Given the description of an element on the screen output the (x, y) to click on. 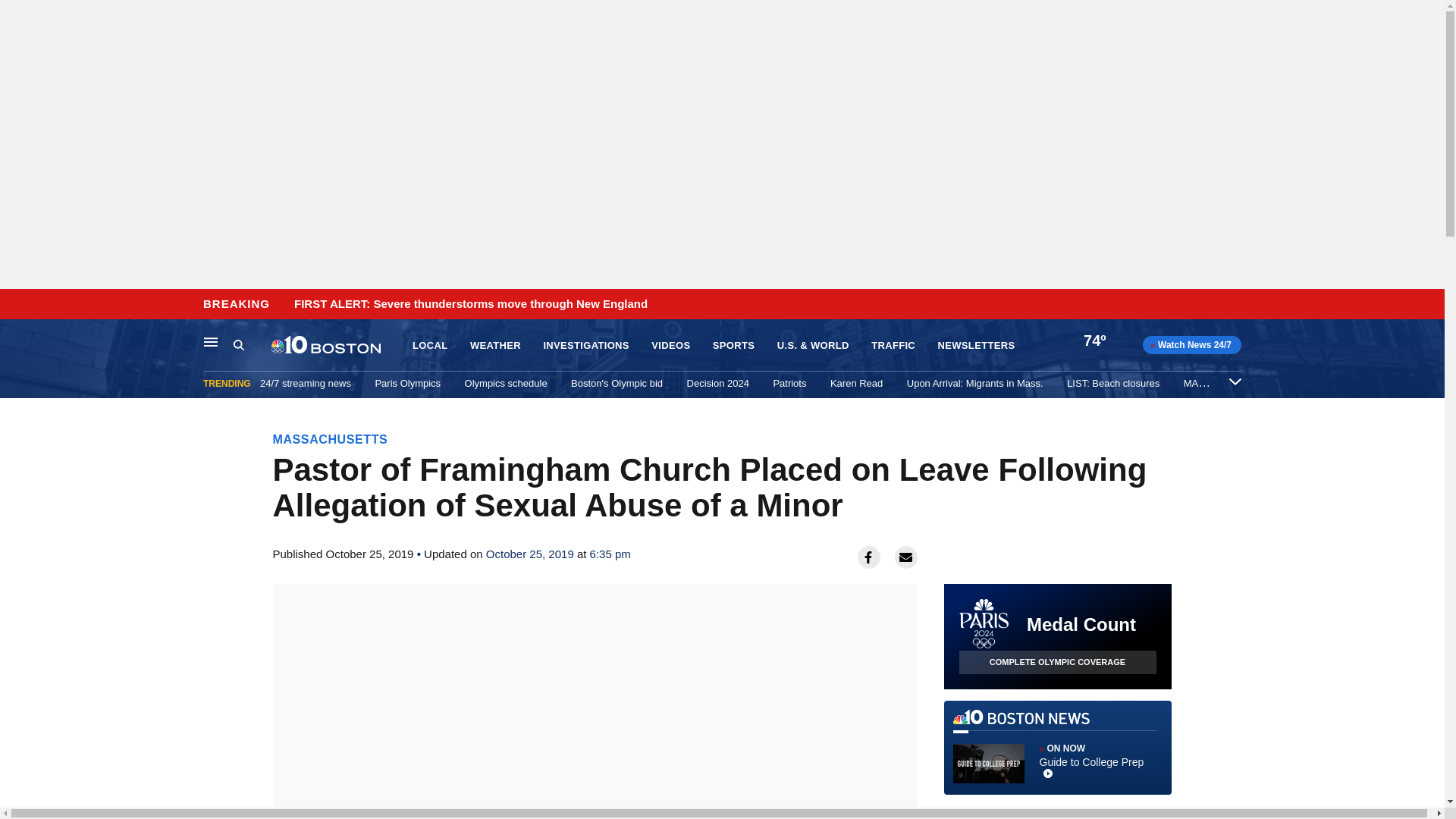
Boston's Olympic bid (616, 383)
Paris Olympics (407, 383)
Olympics schedule (505, 383)
Search (238, 344)
Skip to content (16, 304)
MASSACHUSETTS (330, 439)
Main Navigation (210, 341)
INVESTIGATIONS (585, 345)
Decision 2024 (718, 383)
LOCAL (429, 345)
Expand (1234, 381)
TRAFFIC (892, 345)
WEATHER (495, 345)
Search (252, 345)
Upon Arrival: Migrants in Mass. (975, 383)
